Given the description of an element on the screen output the (x, y) to click on. 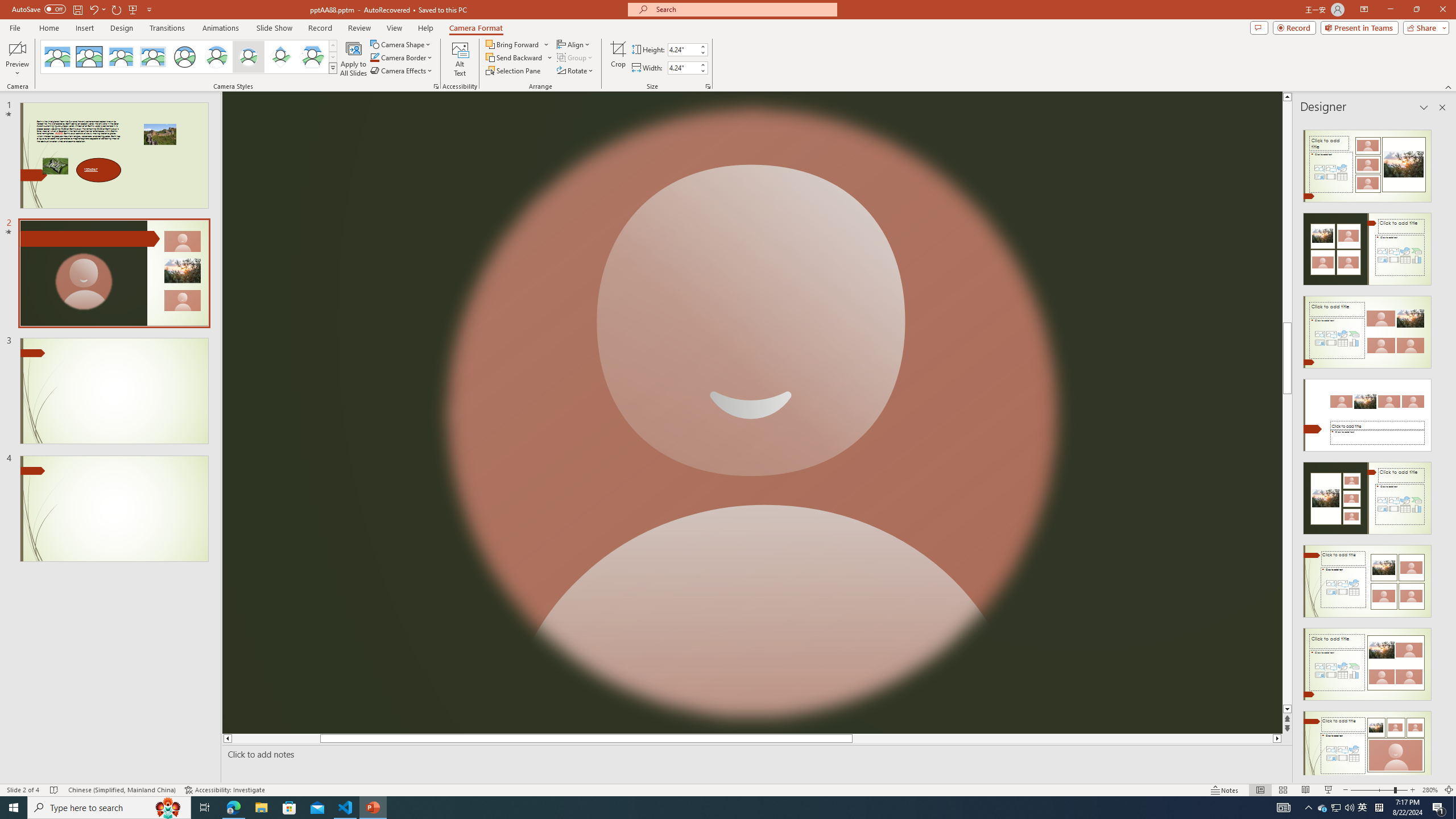
Insert (83, 28)
Page down (1287, 570)
Crop (617, 58)
Spell Check No Errors (54, 790)
Center Shadow Rectangle (120, 56)
Slide (114, 508)
More (702, 64)
Present in Teams (1359, 27)
Quick Access Toolbar (82, 9)
Camera Styles (333, 67)
